Given the description of an element on the screen output the (x, y) to click on. 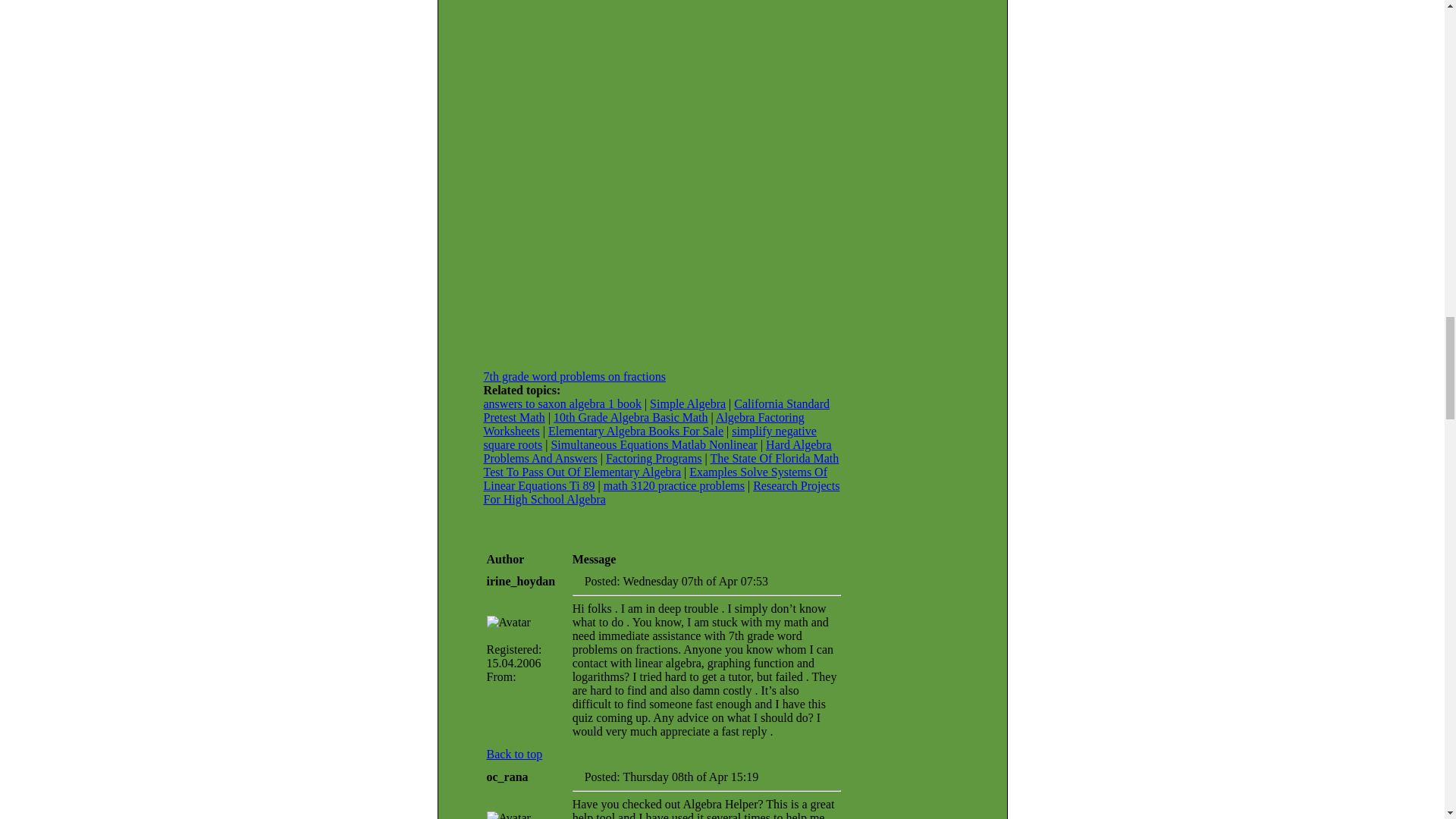
7th grade word problems on fractions (574, 376)
answers to saxon algebra 1 book (562, 403)
Algebra Factoring Worksheets (644, 424)
10th Grade Algebra Basic Math (630, 417)
Simple Algebra (687, 403)
Research Projects For High School Algebra (661, 492)
California Standard Pretest Math (656, 410)
Examples Solve Systems Of Linear Equations Ti 89 (655, 479)
Back to top (514, 753)
Simultaneous Equations Matlab Nonlinear (653, 444)
simplify negative square roots (649, 438)
math 3120 practice problems (674, 485)
Factoring Programs (653, 458)
Hard Algebra Problems And Answers (657, 451)
